Given the description of an element on the screen output the (x, y) to click on. 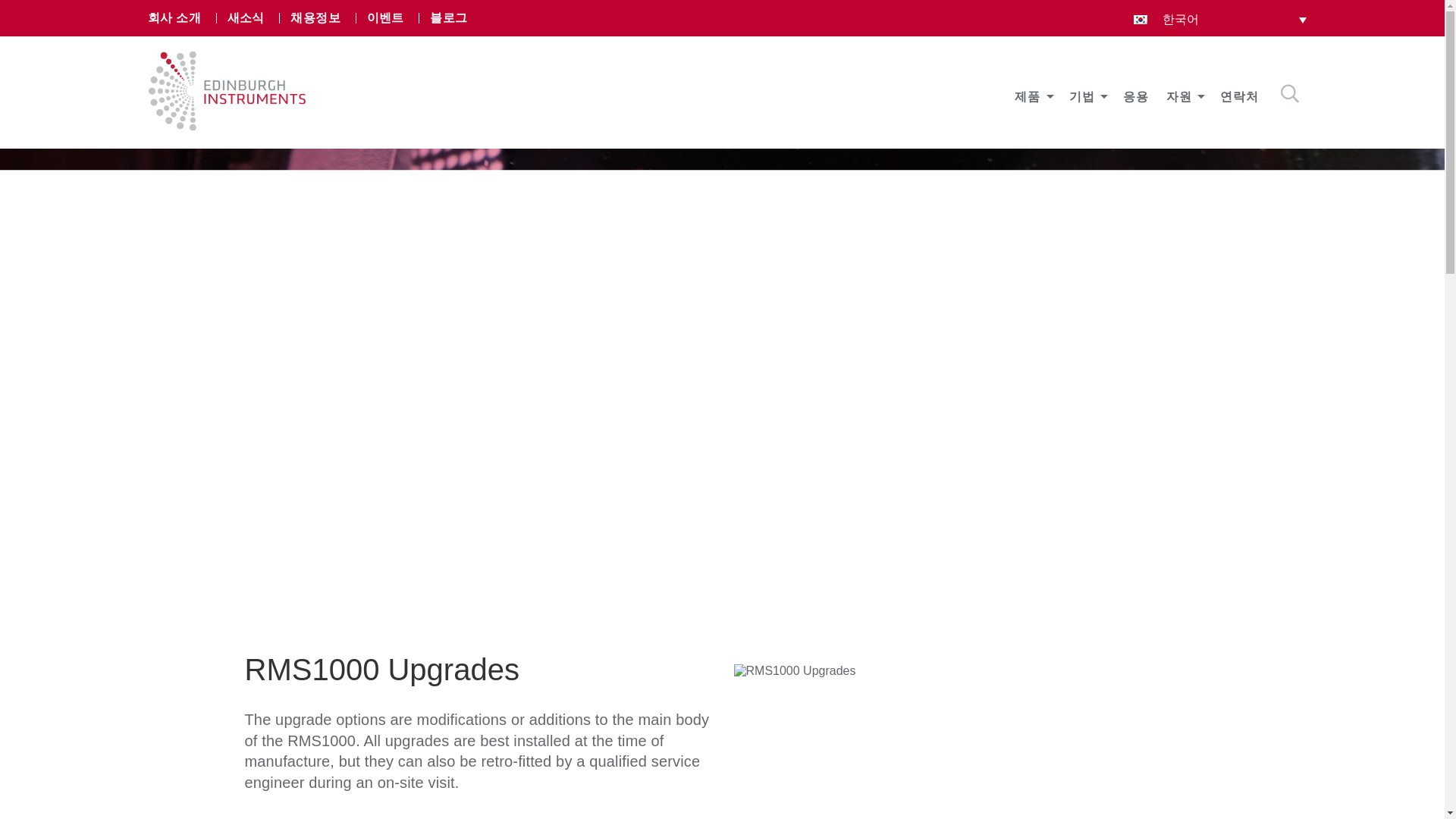
search site (1288, 93)
Edinburgh Instruments home page (226, 125)
